Given the description of an element on the screen output the (x, y) to click on. 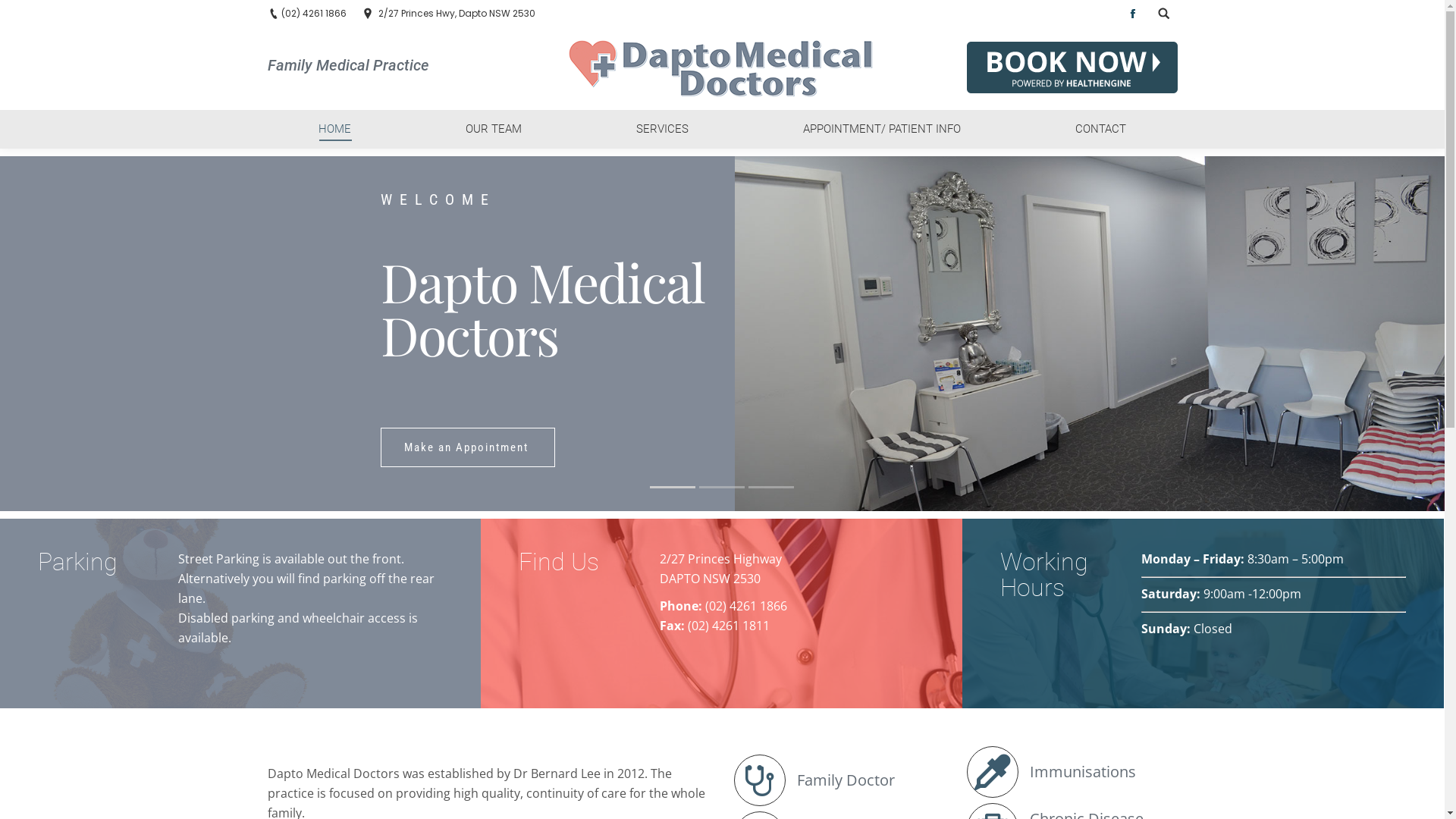
APPOINTMENT/ PATIENT INFO Element type: text (882, 129)
Facebook Element type: text (1132, 13)
OUR TEAM Element type: text (493, 129)
  Element type: text (1163, 13)
HOME Element type: text (333, 129)
Go! Element type: text (21, 14)
SERVICES Element type: text (662, 129)
CONTACT Element type: text (1099, 129)
